Given the description of an element on the screen output the (x, y) to click on. 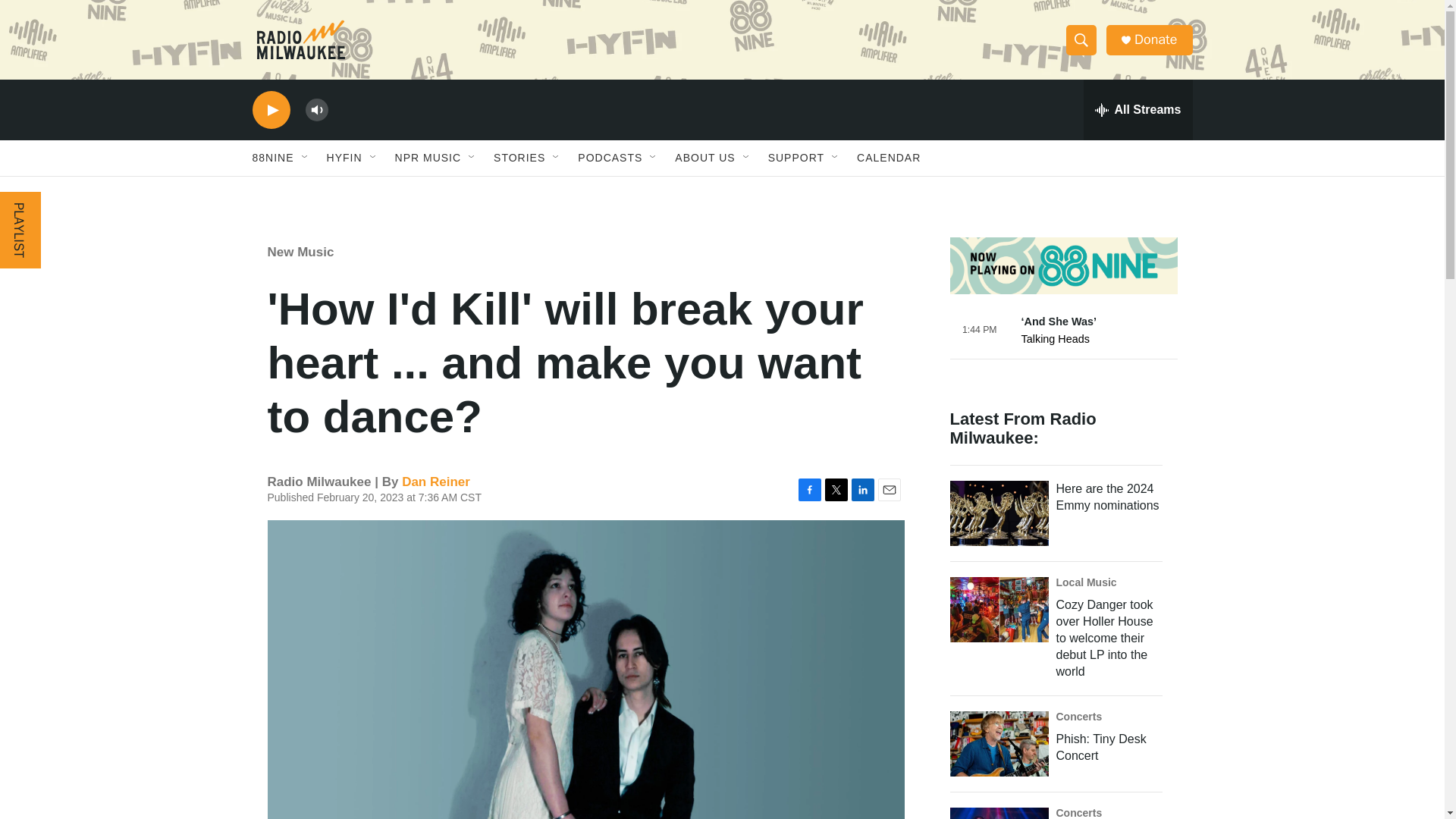
wyms-now-playing (1062, 339)
